Given the description of an element on the screen output the (x, y) to click on. 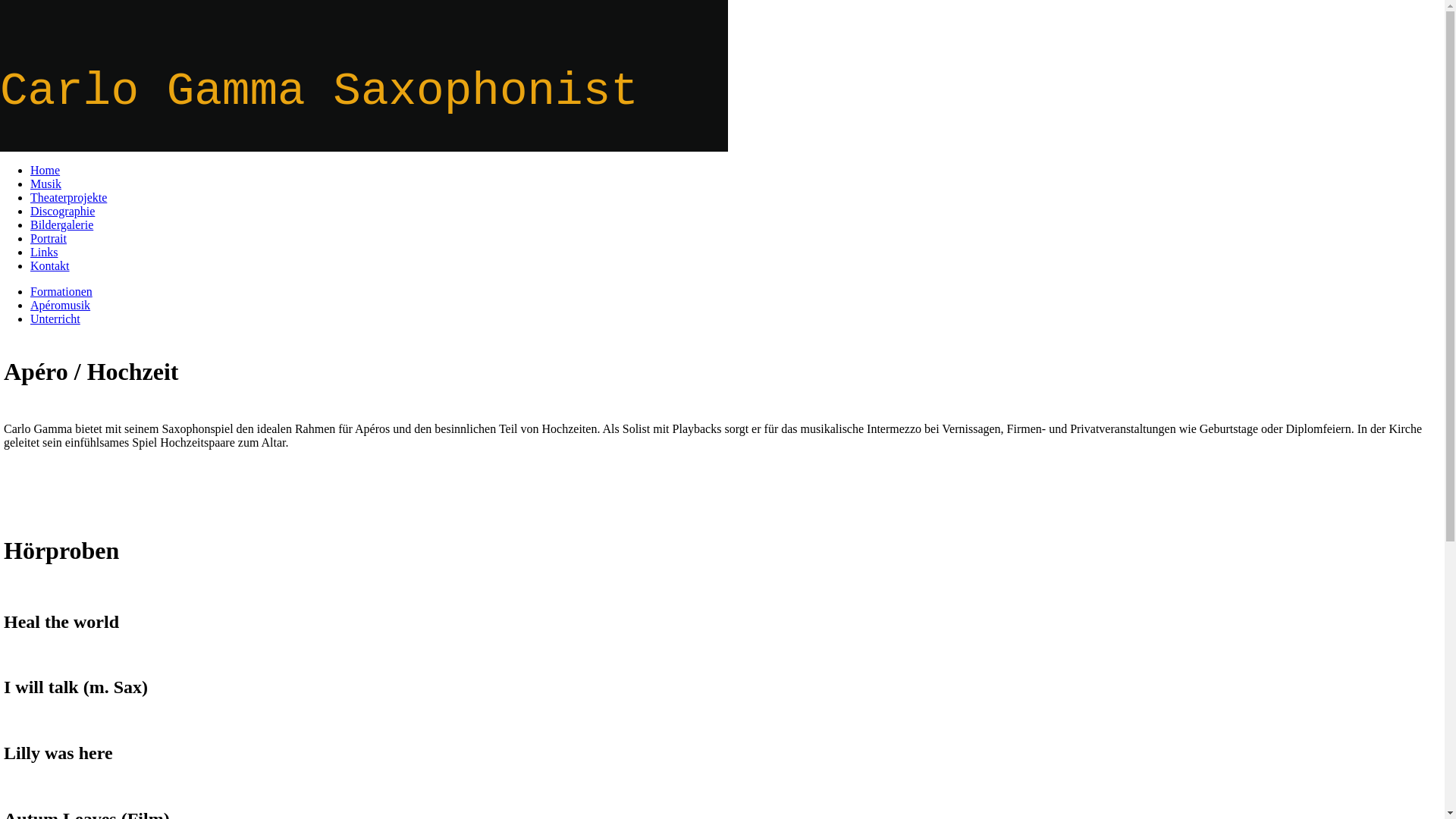
Musik Element type: text (45, 183)
Links Element type: text (43, 251)
Portrait Element type: text (48, 238)
Kontakt Element type: text (49, 265)
Unterricht Element type: text (55, 318)
Discographie Element type: text (62, 210)
Bildergalerie Element type: text (61, 224)
Theaterprojekte Element type: text (68, 197)
Formationen Element type: text (61, 291)
Home Element type: text (44, 169)
